Given the description of an element on the screen output the (x, y) to click on. 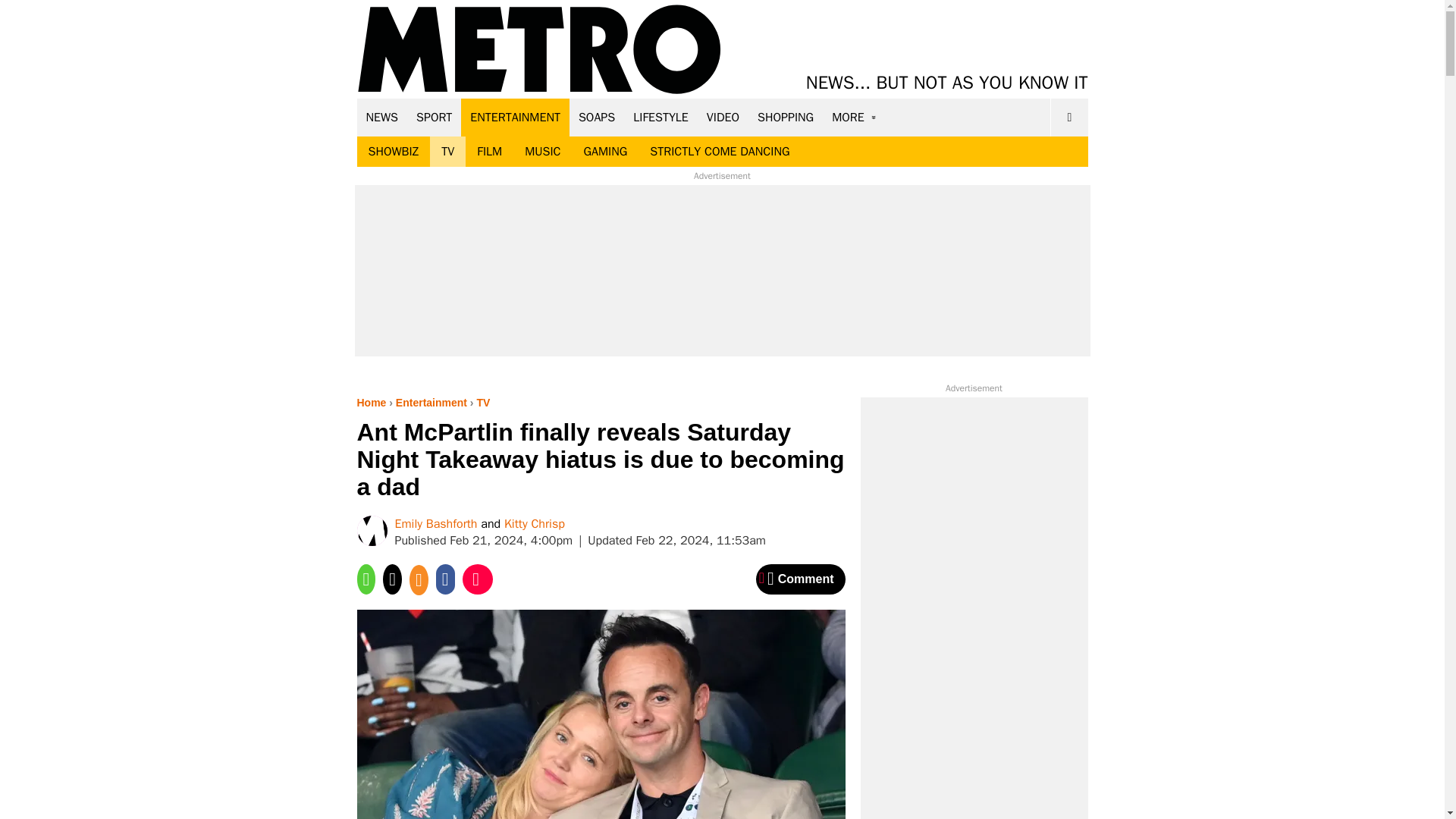
ENTERTAINMENT (515, 117)
STRICTLY COME DANCING (719, 151)
TV (447, 151)
NEWS (381, 117)
SOAPS (596, 117)
GAMING (605, 151)
SHOWBIZ (392, 151)
SPORT (434, 117)
FILM (489, 151)
MUSIC (542, 151)
